Given the description of an element on the screen output the (x, y) to click on. 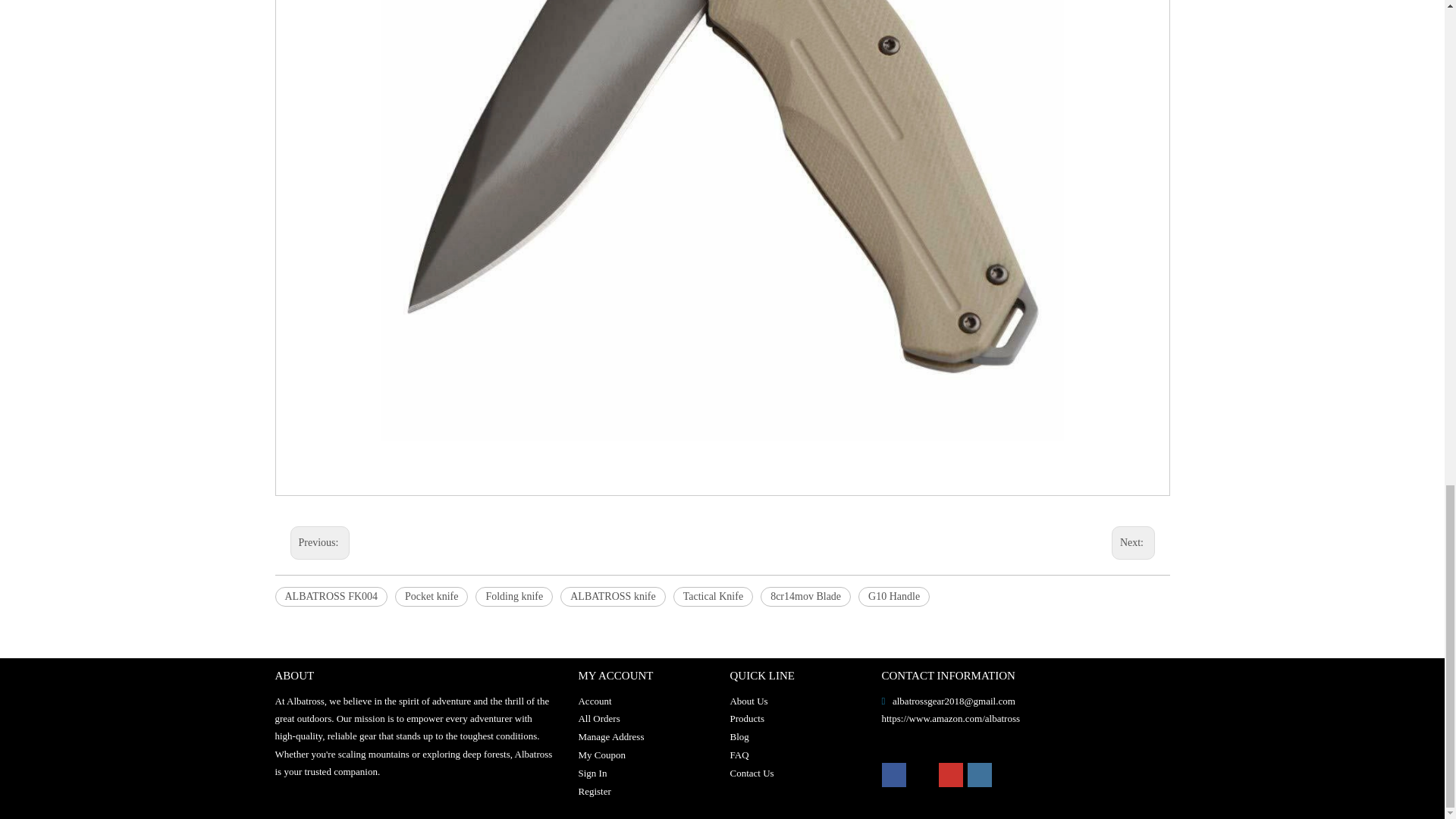
ALBATROSS FK004 (331, 596)
Pocket knife (430, 596)
Folding knife (514, 596)
ALBATROSS knife (612, 596)
